Given the description of an element on the screen output the (x, y) to click on. 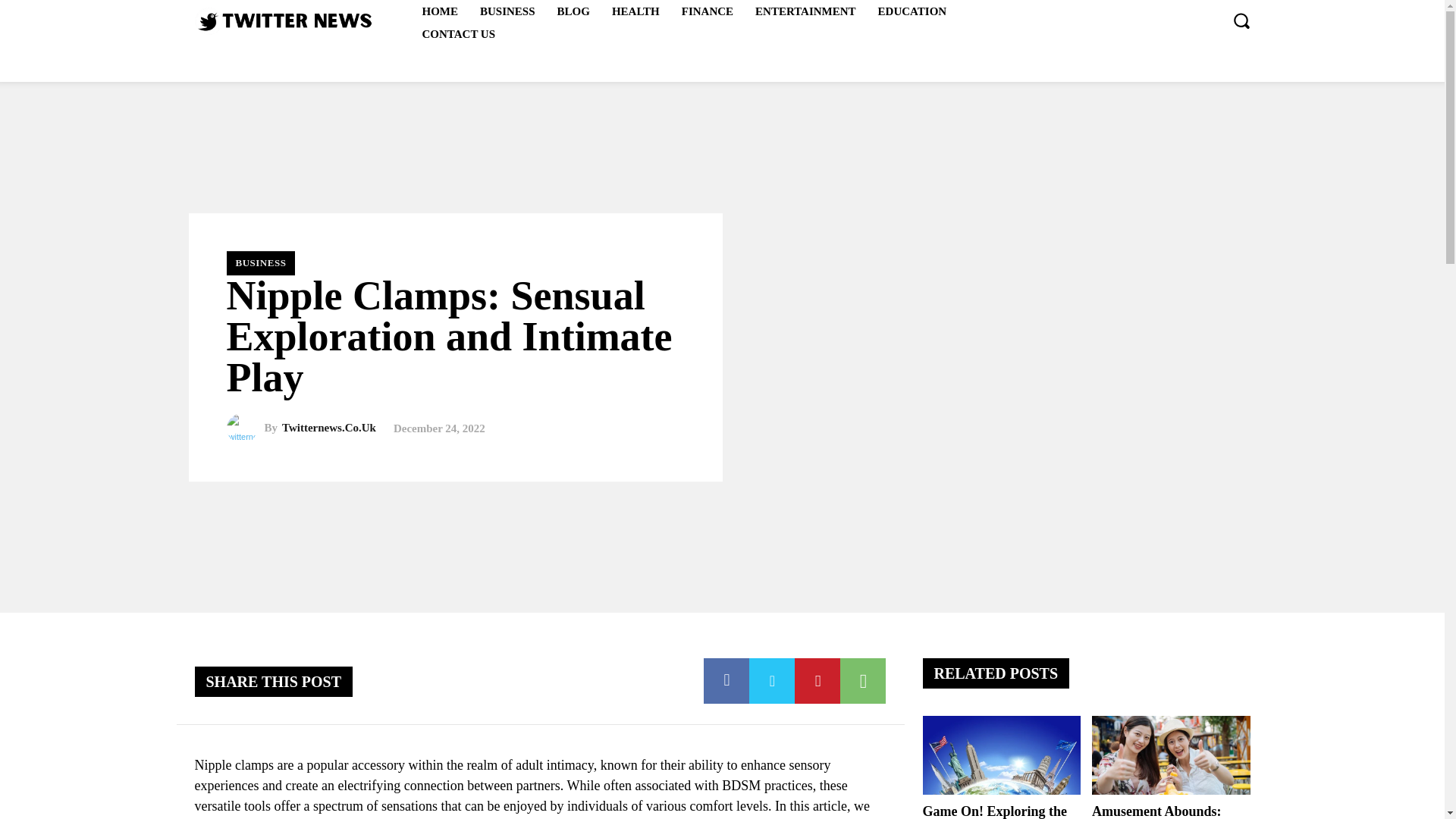
Pinterest (817, 680)
CONTACT US (457, 33)
Facebook (726, 680)
BUSINESS (507, 11)
FINANCE (707, 11)
WhatsApp (862, 680)
Game On! Exploring the World of Entertainment and Fun (994, 811)
twitternews.co.uk (244, 428)
BLOG (573, 11)
Game On! Exploring the World of Entertainment and Fun (1000, 754)
EDUCATION (912, 11)
Amusement Abounds: Laughter and Thrills (1171, 754)
Twitter (771, 680)
ENTERTAINMENT (804, 11)
Twitternews.Co.Uk (328, 428)
